Given the description of an element on the screen output the (x, y) to click on. 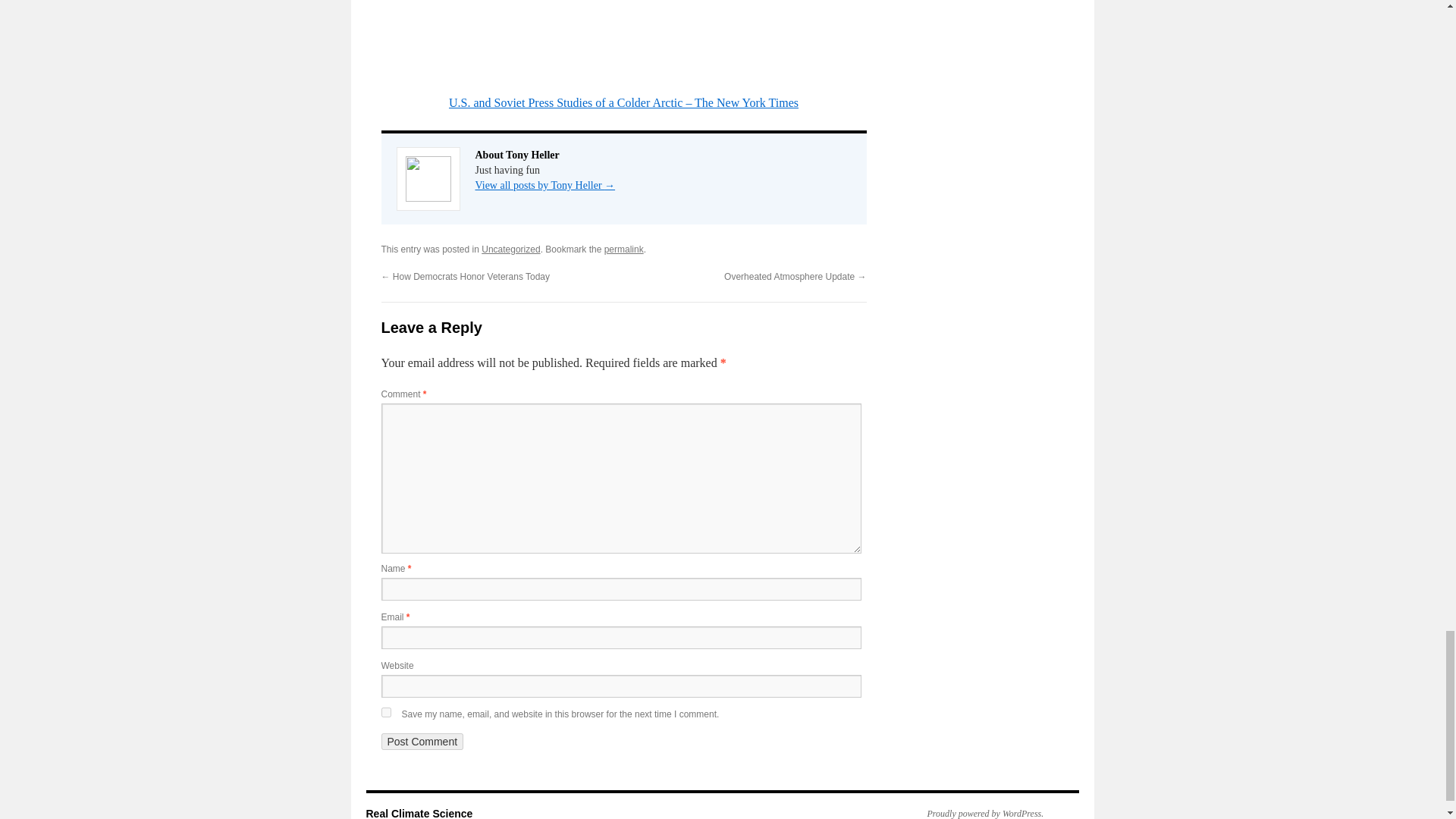
Permalink to 1970 Global Cooling Fires In California (623, 249)
yes (385, 712)
Post Comment (421, 741)
